Given the description of an element on the screen output the (x, y) to click on. 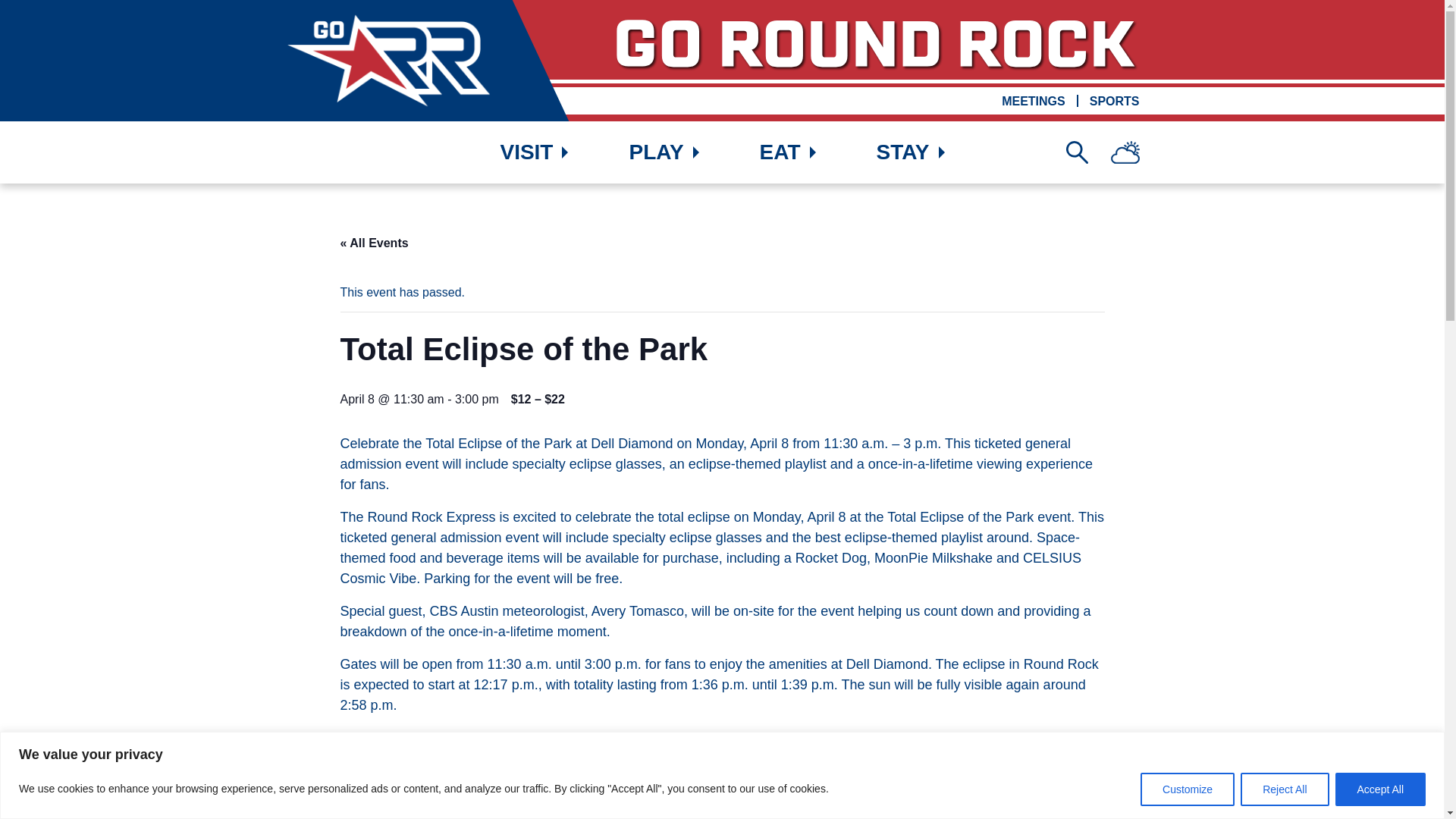
Accept All (1380, 788)
Reject All (1283, 788)
Customize (1187, 788)
SPORTS (1114, 101)
MEETINGS (1033, 101)
